Given the description of an element on the screen output the (x, y) to click on. 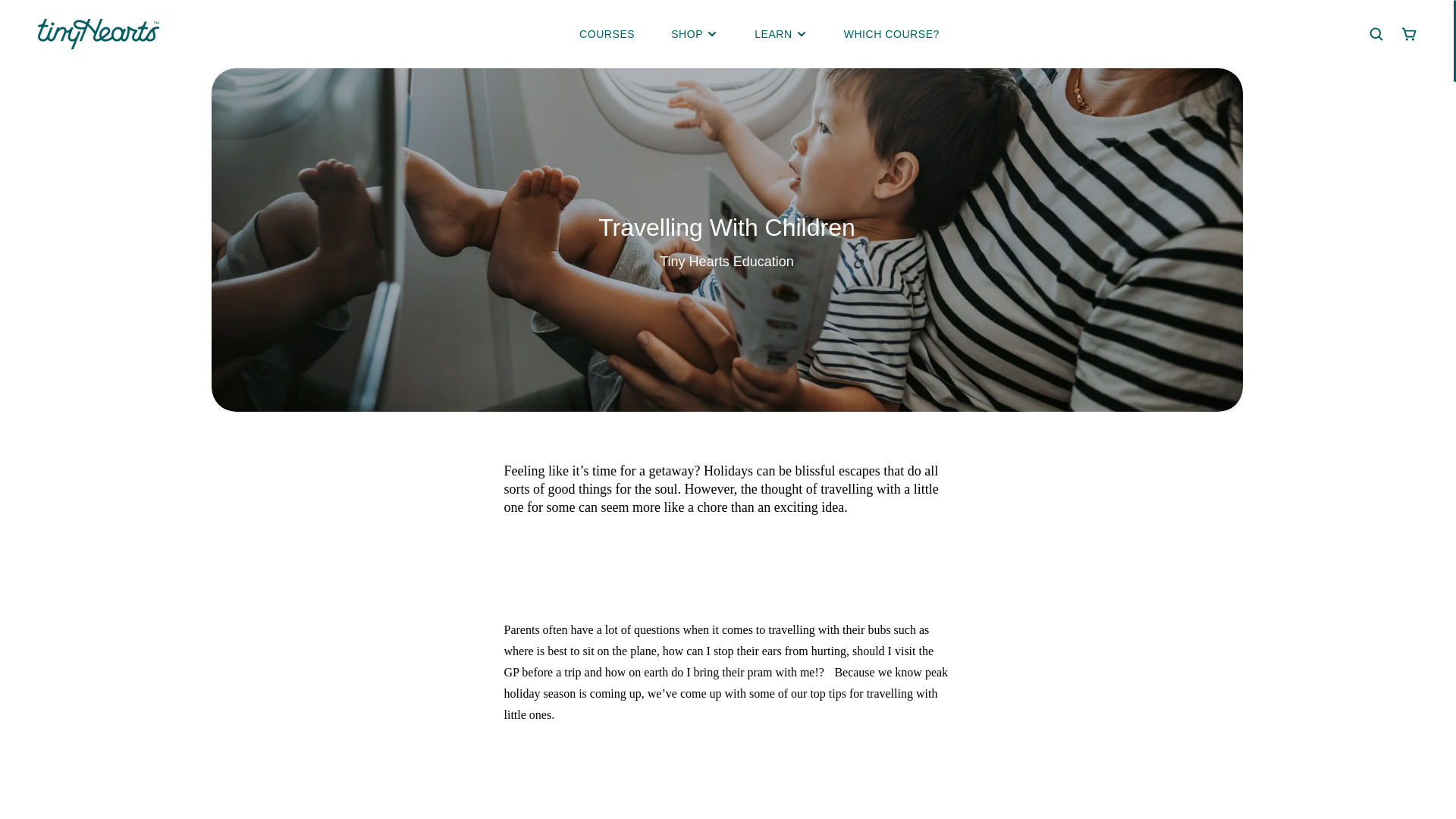
LEARN (773, 34)
SHOP (687, 34)
COURSES (606, 34)
WHICH COURSE? (891, 34)
